Given the description of an element on the screen output the (x, y) to click on. 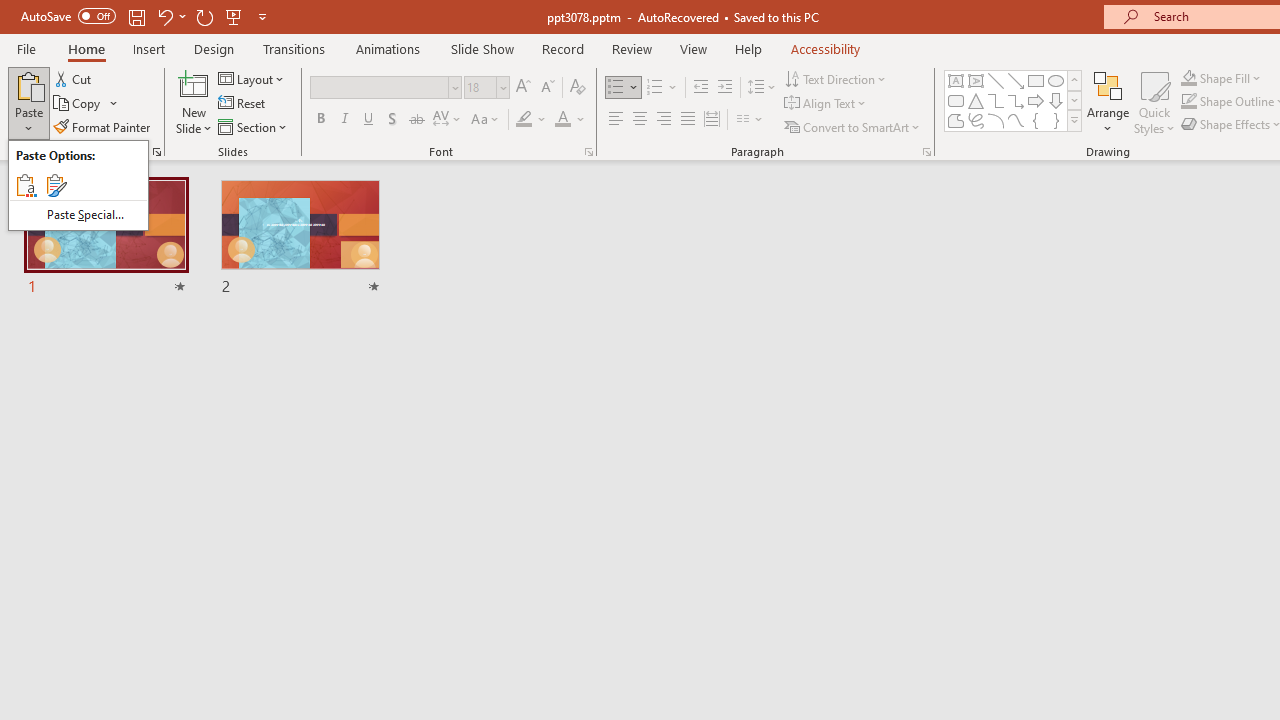
Arrange (1108, 102)
Paste (28, 102)
New Slide (193, 102)
Row Down (1074, 100)
Curve (1016, 120)
Arrow: Right (1035, 100)
Connector: Elbow (995, 100)
Shape Fill Dark Green, Accent 2 (1188, 78)
Rectangle: Rounded Corners (955, 100)
